Given the description of an element on the screen output the (x, y) to click on. 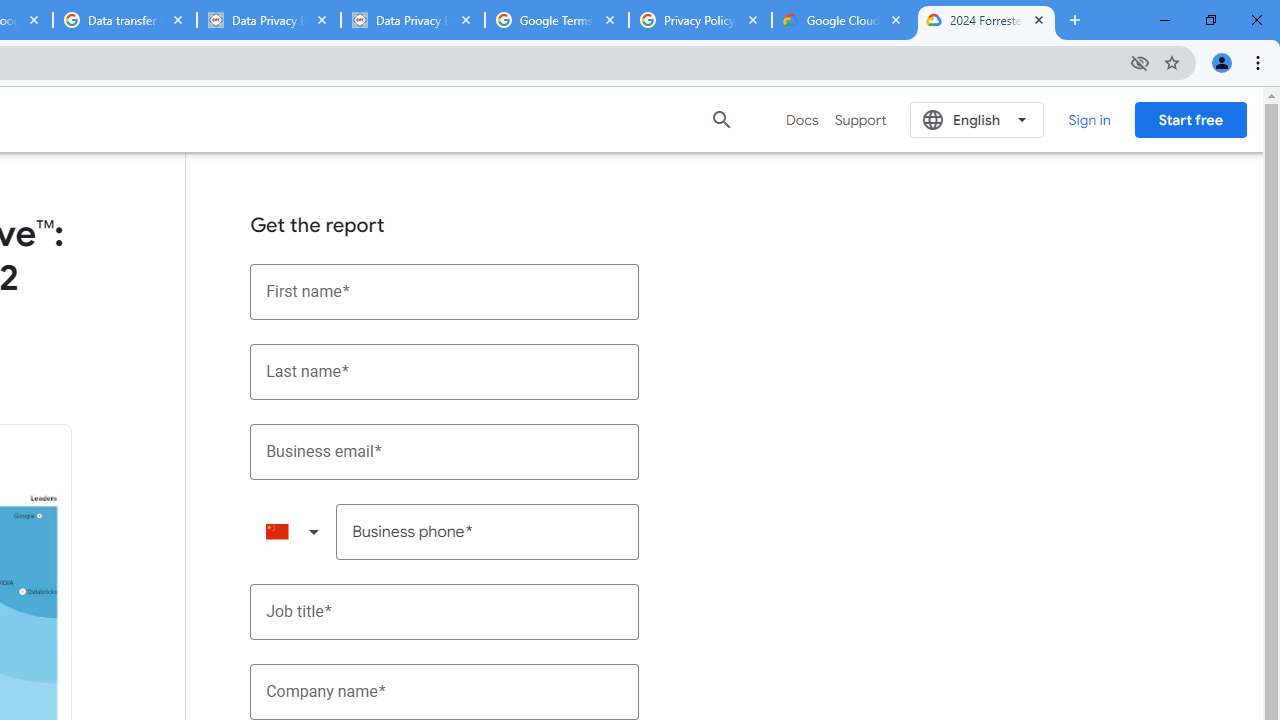
First name* (445, 291)
Google Cloud Privacy Notice (843, 20)
Data Privacy Framework (268, 20)
Company name* (445, 691)
Business email* (445, 451)
Business phone* (488, 531)
